Given the description of an element on the screen output the (x, y) to click on. 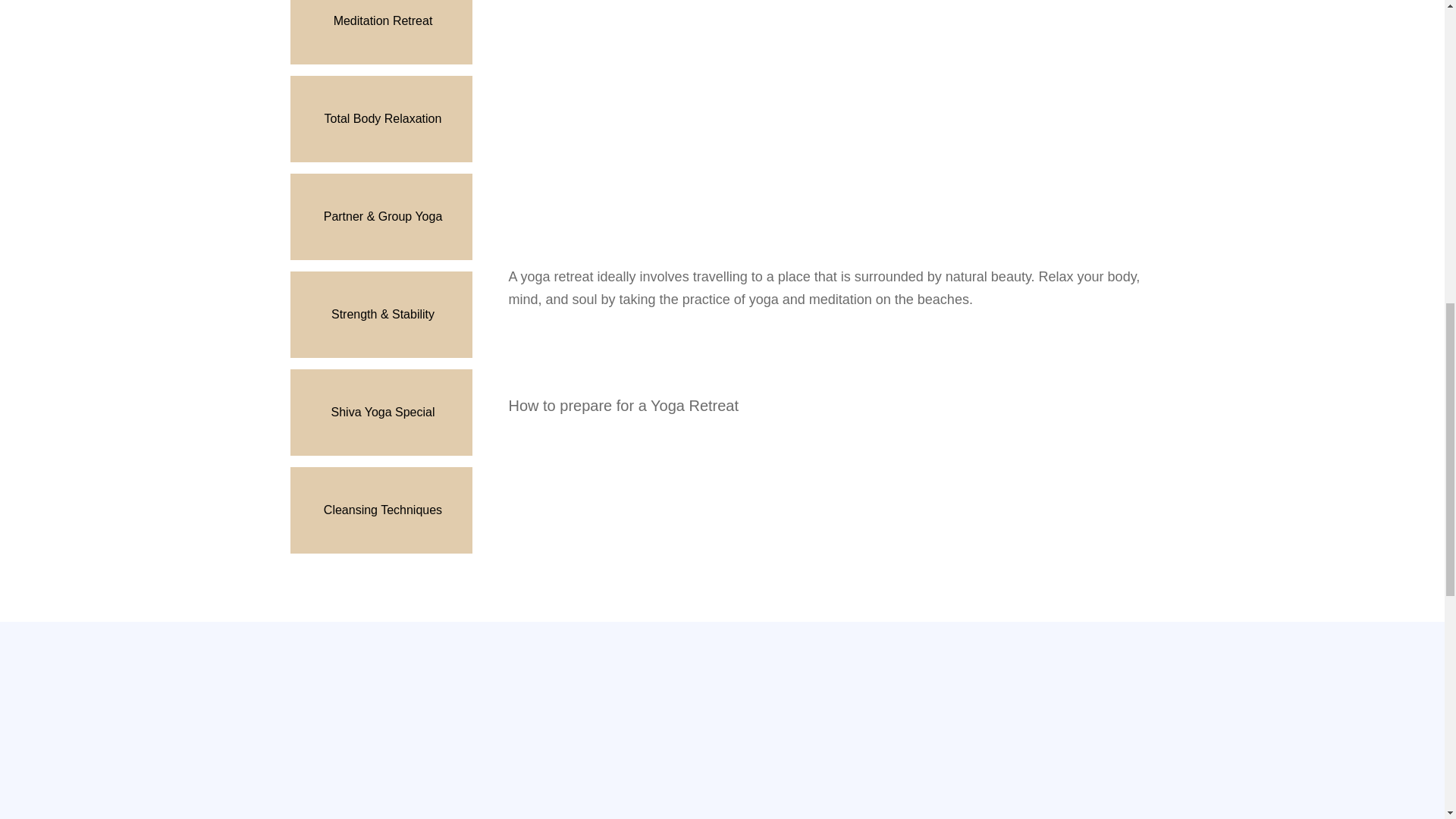
Cleansing Techniques (380, 509)
Meditation Retreat (380, 32)
Total Body Relaxation (380, 119)
Shiva Yoga Special (380, 412)
